Given the description of an element on the screen output the (x, y) to click on. 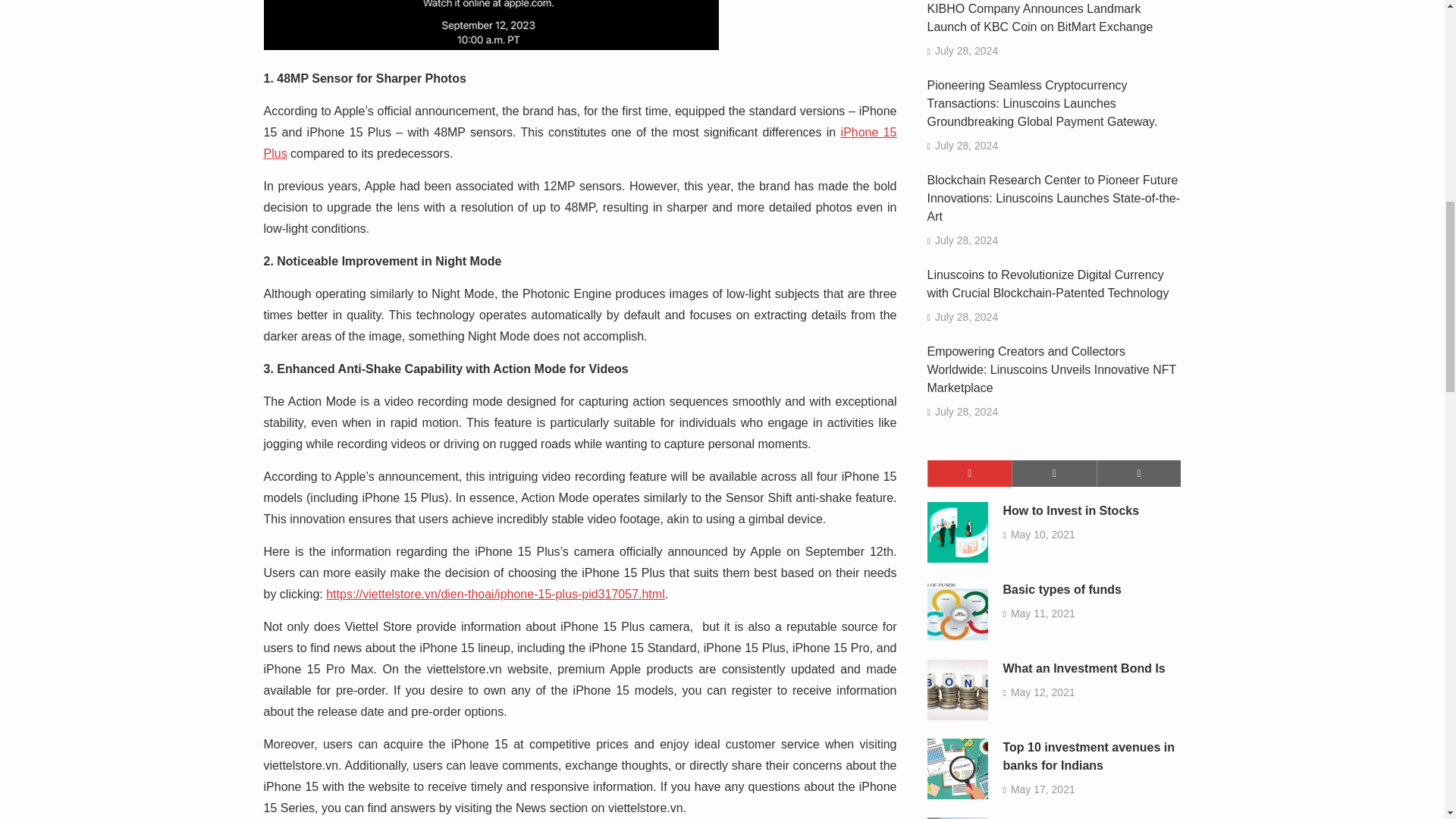
iPhone 15 Plus (579, 142)
